Given the description of an element on the screen output the (x, y) to click on. 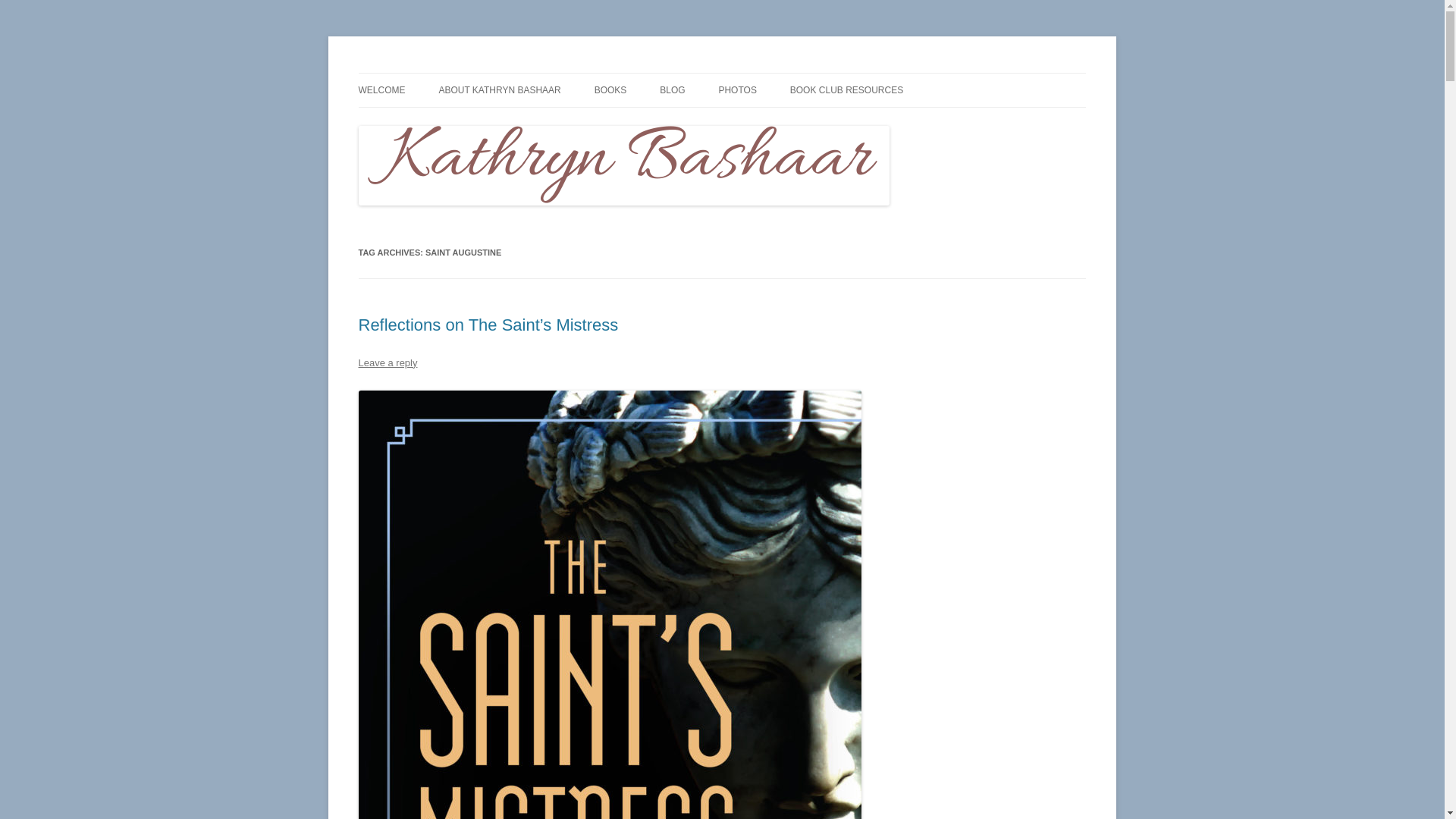
Leave a reply (387, 362)
BLOG (671, 90)
BOOKS (610, 90)
BOOK CLUB RESOURCES (846, 90)
WELCOME (381, 90)
Kathryn Bashaar (436, 72)
PHOTOS (736, 90)
ABOUT KATHRYN BASHAAR (499, 90)
